Given the description of an element on the screen output the (x, y) to click on. 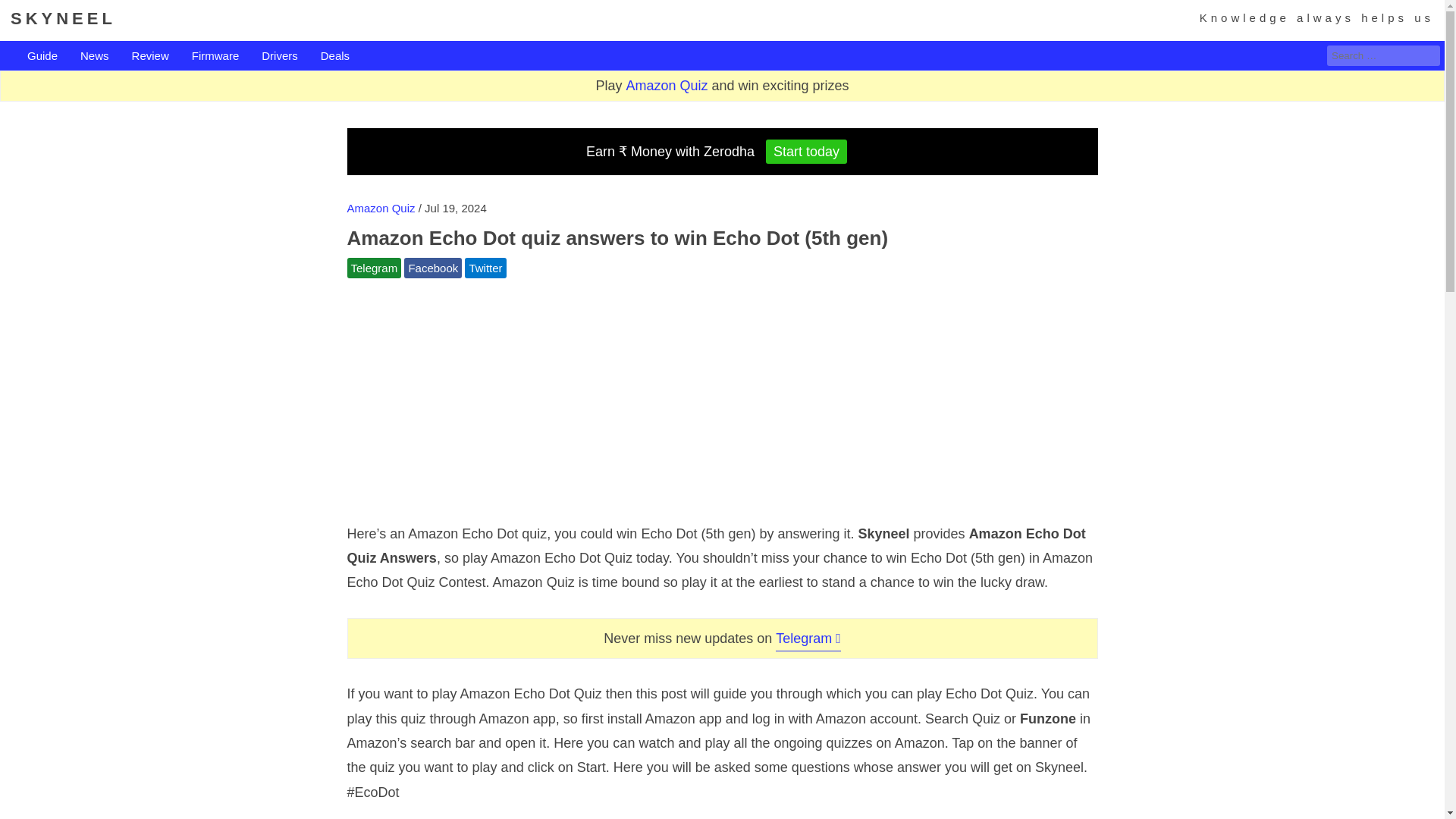
Telegram (374, 267)
Guide (42, 55)
Skyneel Home (63, 18)
Join us on Facebook (432, 267)
SKYNEEL (63, 18)
Facebook (432, 267)
Join us on Telegram (374, 267)
Amazon Quiz (380, 207)
Drivers (280, 55)
Join us on Telegram (808, 638)
Firmware (216, 55)
Deals (334, 55)
Search for (1382, 55)
Twitter (484, 267)
Amazon Quiz (666, 85)
